Given the description of an element on the screen output the (x, y) to click on. 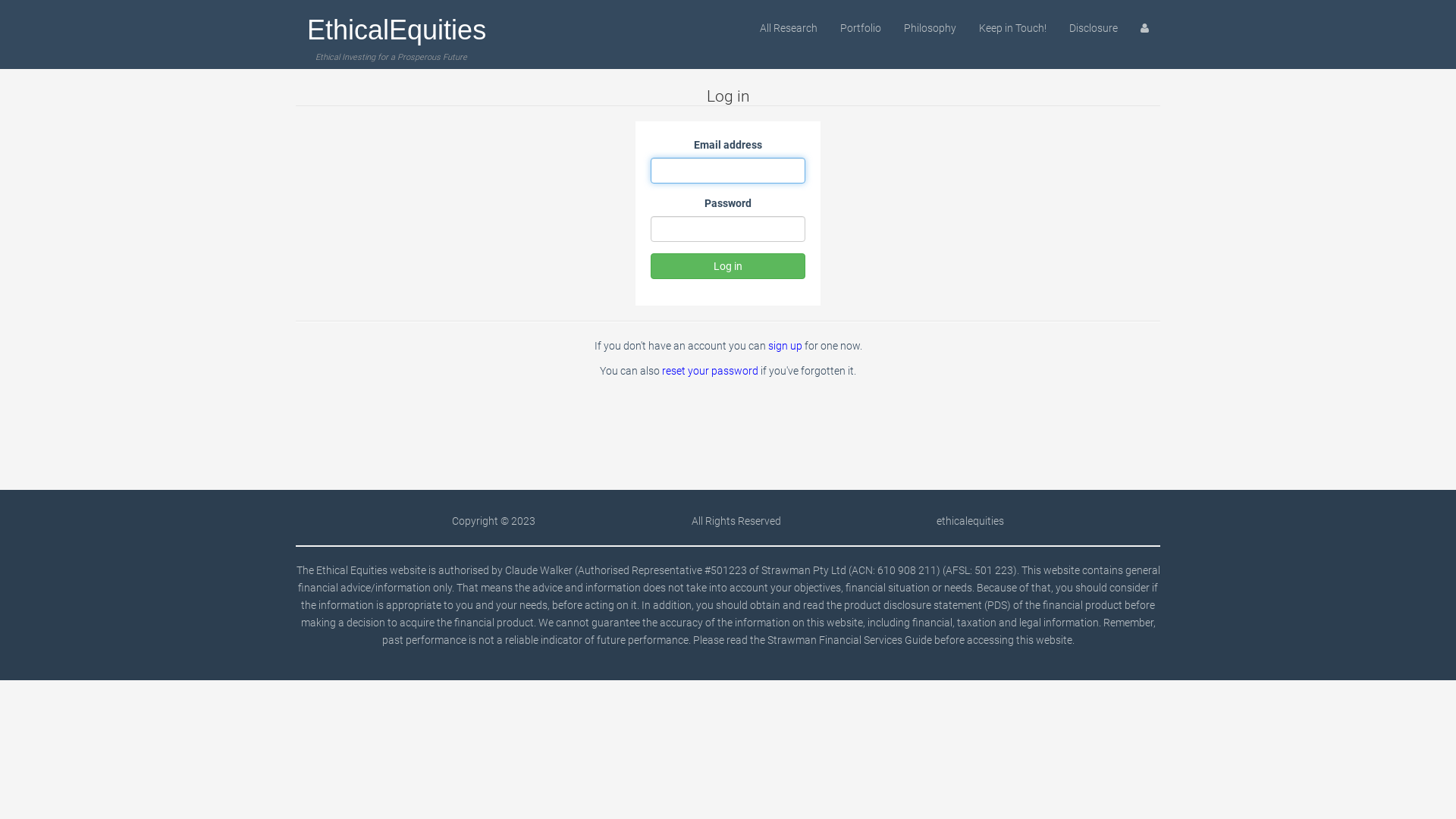
sign up Element type: text (784, 345)
All Research Element type: text (788, 27)
EthicalEquities Element type: text (396, 24)
Philosophy Element type: text (929, 27)
Financial Services Guide Element type: text (875, 639)
Log in Element type: text (727, 266)
Keep in Touch! Element type: text (1012, 27)
reset your password Element type: text (710, 370)
Portfolio Element type: text (860, 27)
Disclosure Element type: text (1093, 27)
